Given the description of an element on the screen output the (x, y) to click on. 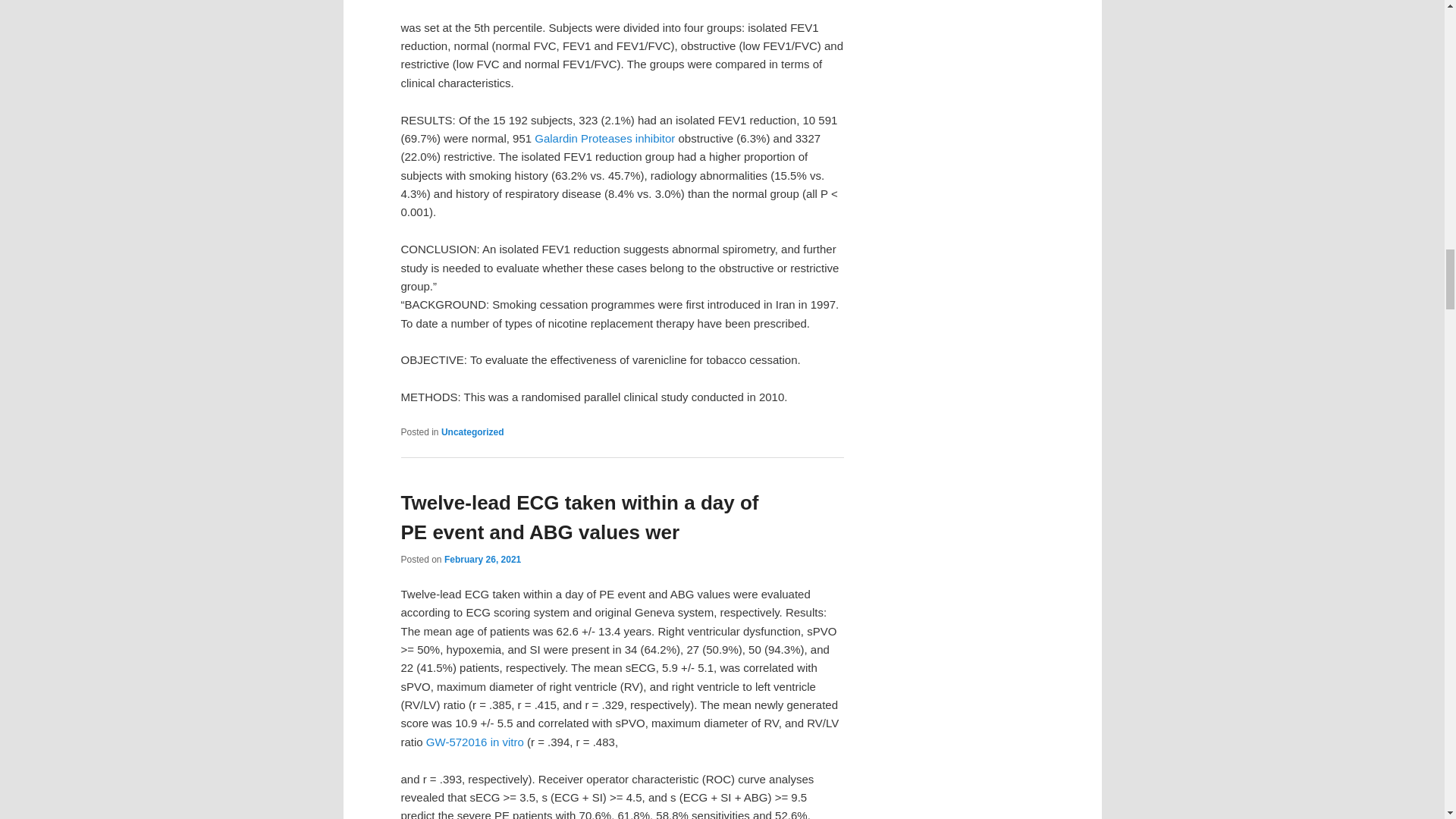
Galardin Proteases inhibitor (604, 137)
View all posts in Uncategorized (472, 431)
February 26, 2021 (482, 559)
GW-572016 in vitro (475, 741)
Uncategorized (472, 431)
